Given the description of an element on the screen output the (x, y) to click on. 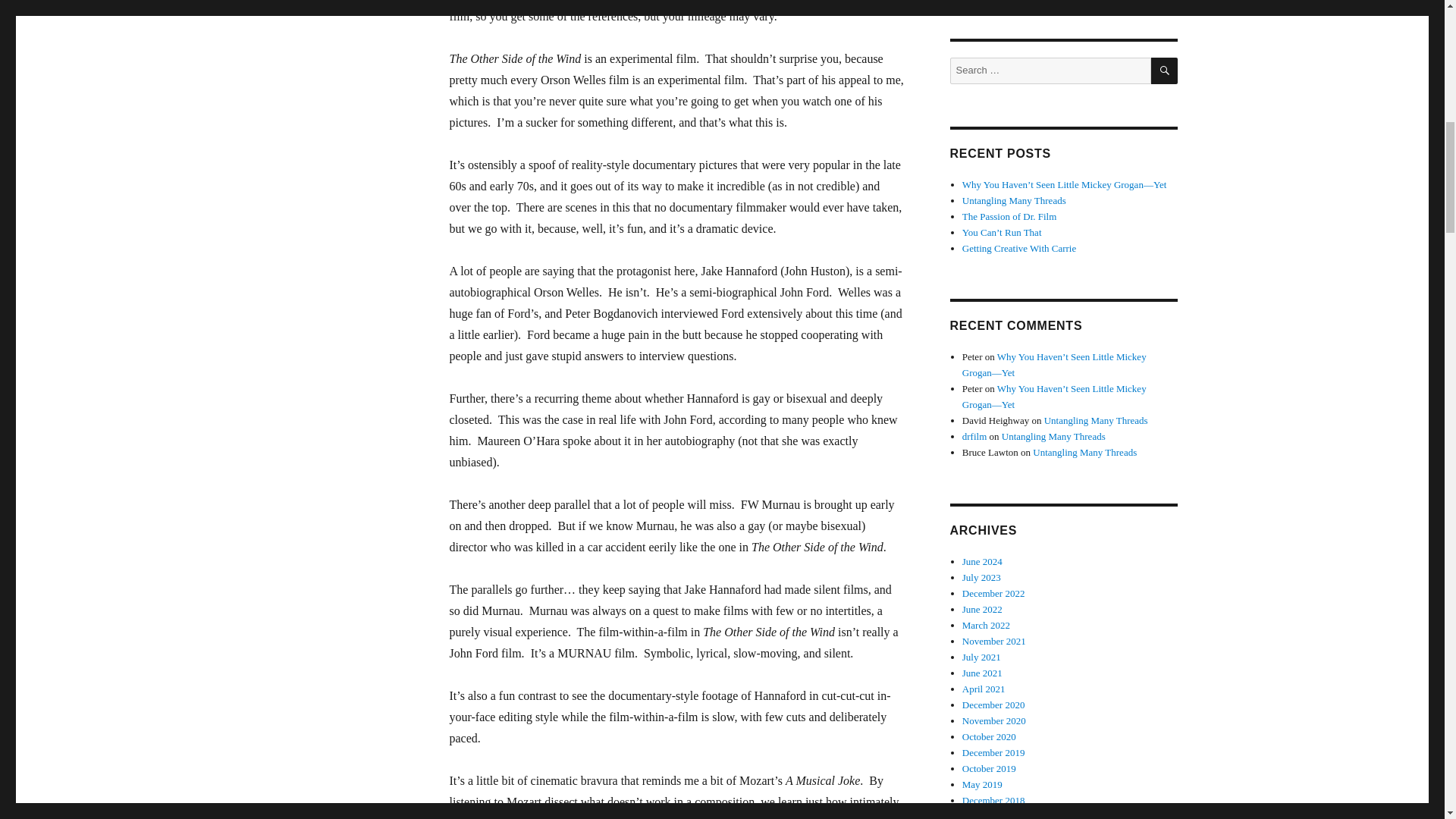
Getting Creative With Carrie (1019, 247)
SEARCH (1164, 70)
Untangling Many Threads (1013, 200)
The Passion of Dr. Film (1009, 215)
